Given the description of an element on the screen output the (x, y) to click on. 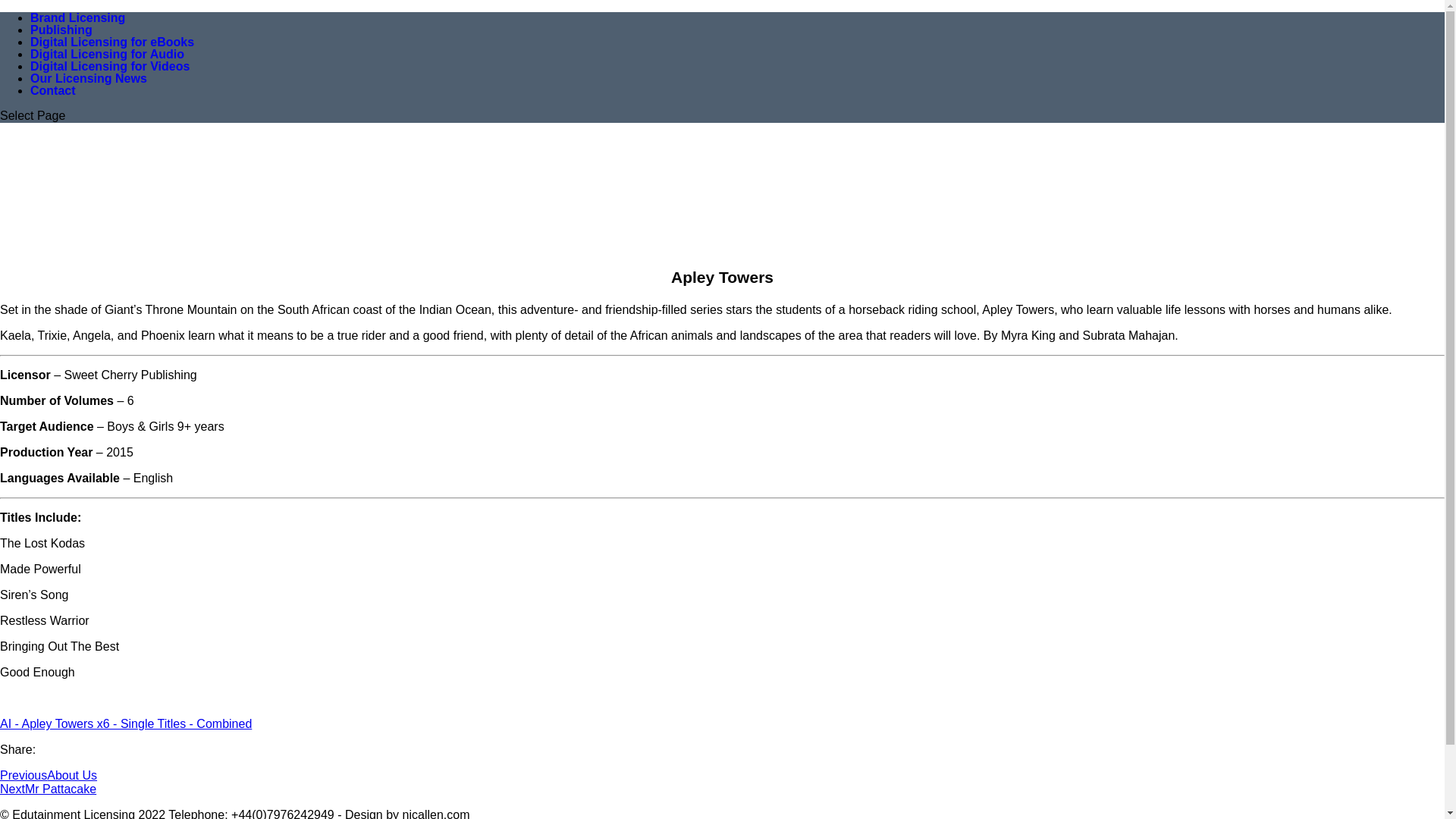
Publishing (61, 30)
Digital Licensing for eBooks (111, 41)
Digital Licensing for Audio (107, 54)
Digital Licensing for Videos (109, 66)
Brand Licensing (77, 24)
Our Licensing News (88, 77)
NextMr Pattacake (48, 788)
PreviousAbout Us (48, 775)
Contact (52, 90)
AI - Apley Towers x6 - Single Titles - Combined (125, 723)
